Given the description of an element on the screen output the (x, y) to click on. 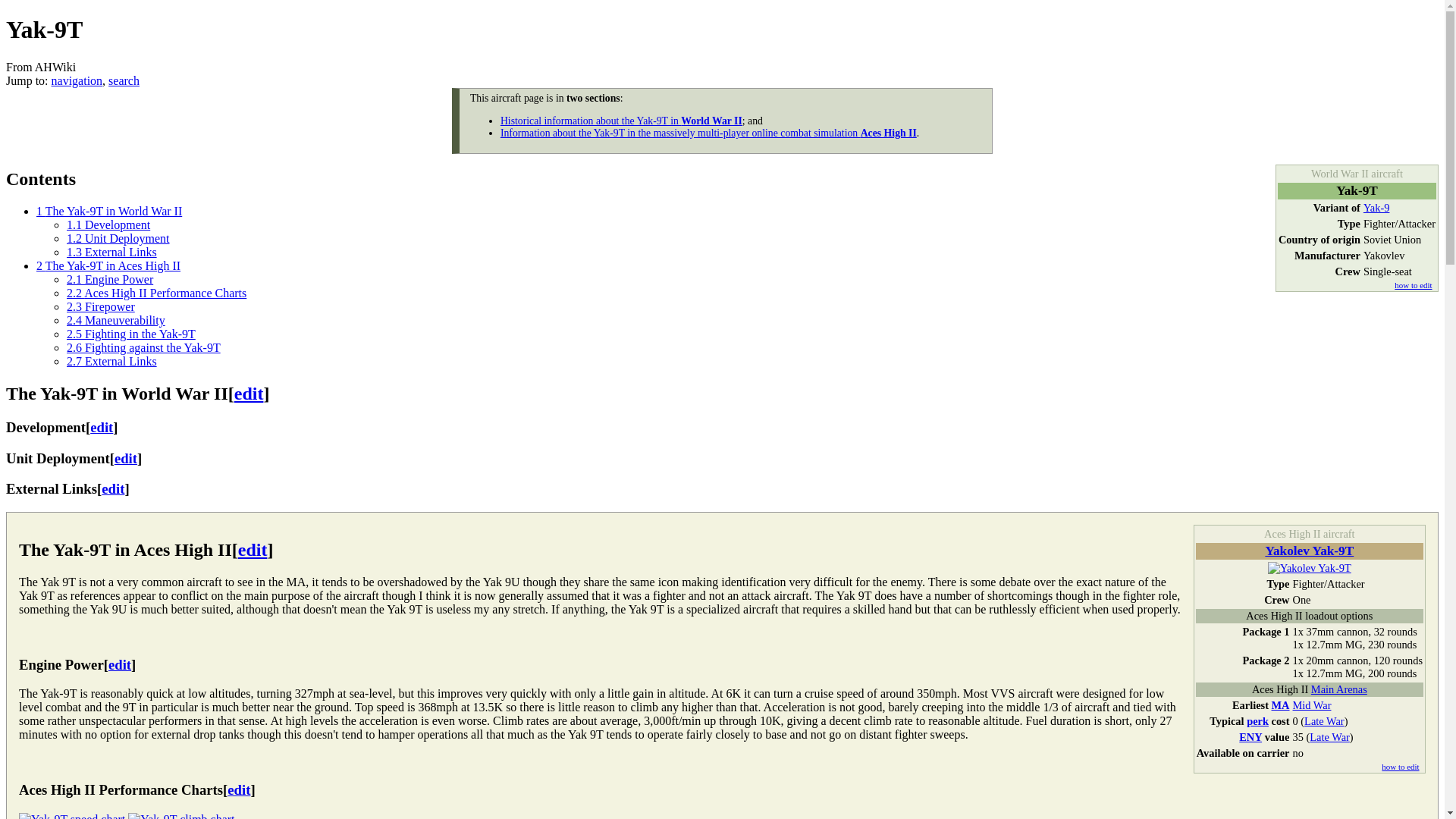
Late War Main Arenas (1323, 720)
2.6 Fighting against the Yak-9T (143, 347)
2.1 Engine Power (109, 278)
Late War (1328, 736)
Main Arenas (1339, 689)
Yakolev Yak-9T (1309, 567)
1.1 Development (107, 224)
Yakolev Yak-9T (1309, 550)
2.4 Maneuverability (115, 319)
2.2 Aces High II Performance Charts (156, 292)
edit (101, 426)
Edit section: Development (101, 426)
edit (238, 789)
how to edit (1412, 284)
